Given the description of an element on the screen output the (x, y) to click on. 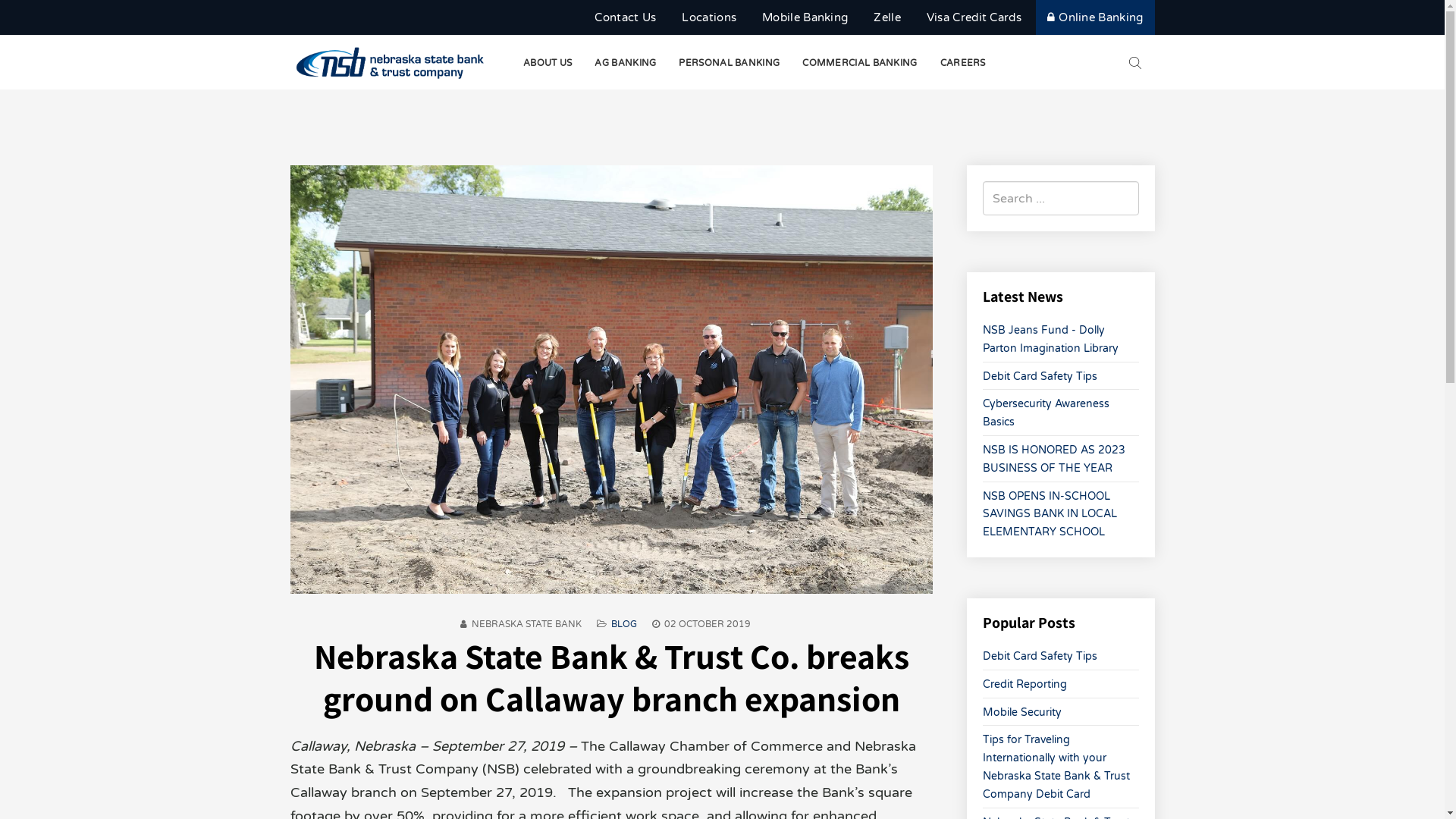
Locations Element type: text (708, 17)
NSB Jeans Fund - Dolly Parton Imagination Library Element type: text (1050, 338)
Cybersecurity Awareness Basics Element type: text (1045, 412)
Mobile Security Element type: text (1021, 712)
Nebraska State Bank and Trust, Co Element type: hover (389, 62)
Mobile Banking Element type: text (804, 17)
Debit Card Safety Tips Element type: text (1039, 655)
Zelle Element type: text (887, 17)
BLOG Element type: text (624, 623)
Contact Us Element type: text (625, 17)
Debit Card Safety Tips Element type: text (1039, 376)
ABOUT US Element type: text (547, 62)
NSB OPENS IN-SCHOOL SAVINGS BANK IN LOCAL ELEMENTARY SCHOOL Element type: text (1049, 514)
NSB IS HONORED AS 2023 BUSINESS OF THE YEAR Element type: text (1053, 458)
COMMERCIAL BANKING Element type: text (859, 62)
AG BANKING Element type: text (625, 62)
PERSONAL BANKING Element type: text (728, 62)
CAREERS Element type: text (962, 62)
Credit Reporting Element type: text (1024, 683)
Visa Credit Cards Element type: text (973, 17)
Online Banking Element type: text (1094, 17)
